Given the description of an element on the screen output the (x, y) to click on. 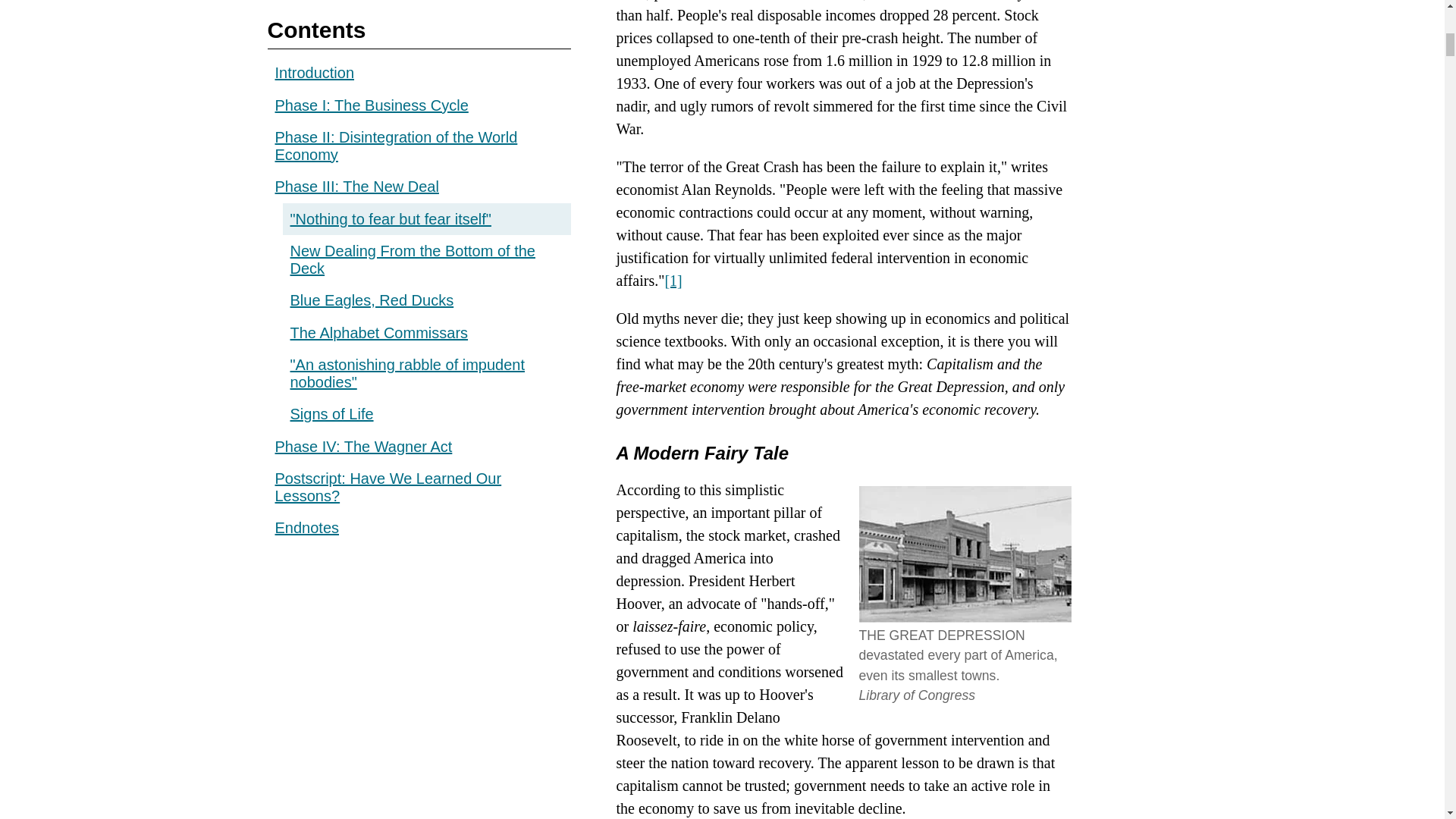
Endnotes (307, 315)
Blue Eagles, Red Ducks (370, 87)
New Dealing From the Bottom of the Deck (411, 47)
"An astonishing rabble of impudent nobodies" (406, 161)
Postscript: Have We Learned Our Lessons? (387, 274)
Signs of Life (330, 201)
Great Depression Main Street (964, 554)
"Nothing to fear but fear itself" (426, 11)
Phase IV: The Wagner Act (363, 234)
The Alphabet Commissars (378, 120)
